Given the description of an element on the screen output the (x, y) to click on. 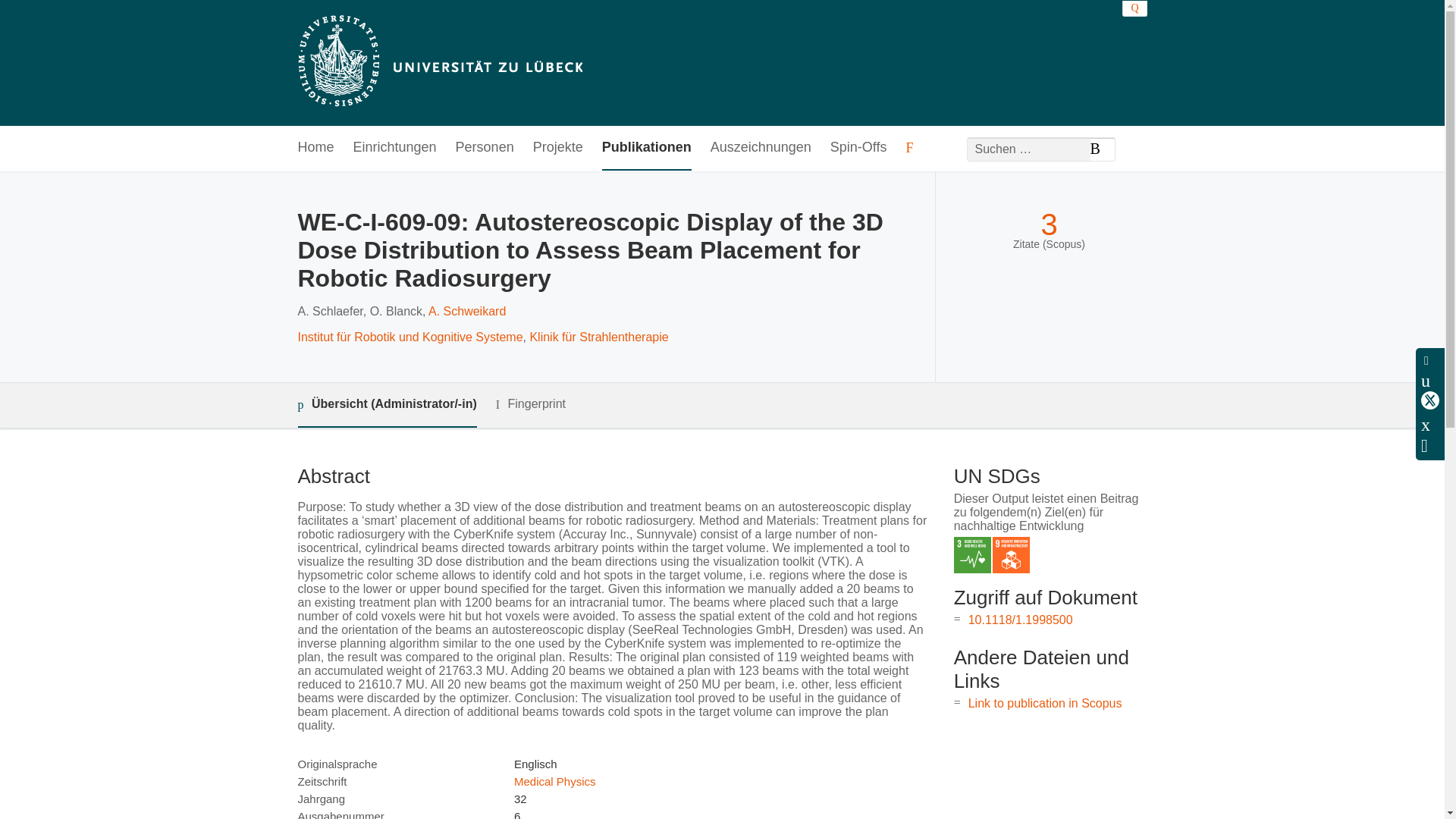
Einrichtungen (394, 148)
Medical Physics (554, 780)
Publikationen (646, 148)
Auszeichnungen (760, 148)
A. Schweikard (466, 310)
Spin-Offs (857, 148)
Fingerprint (531, 404)
Link to publication in Scopus (1045, 703)
Projekte (557, 148)
